Given the description of an element on the screen output the (x, y) to click on. 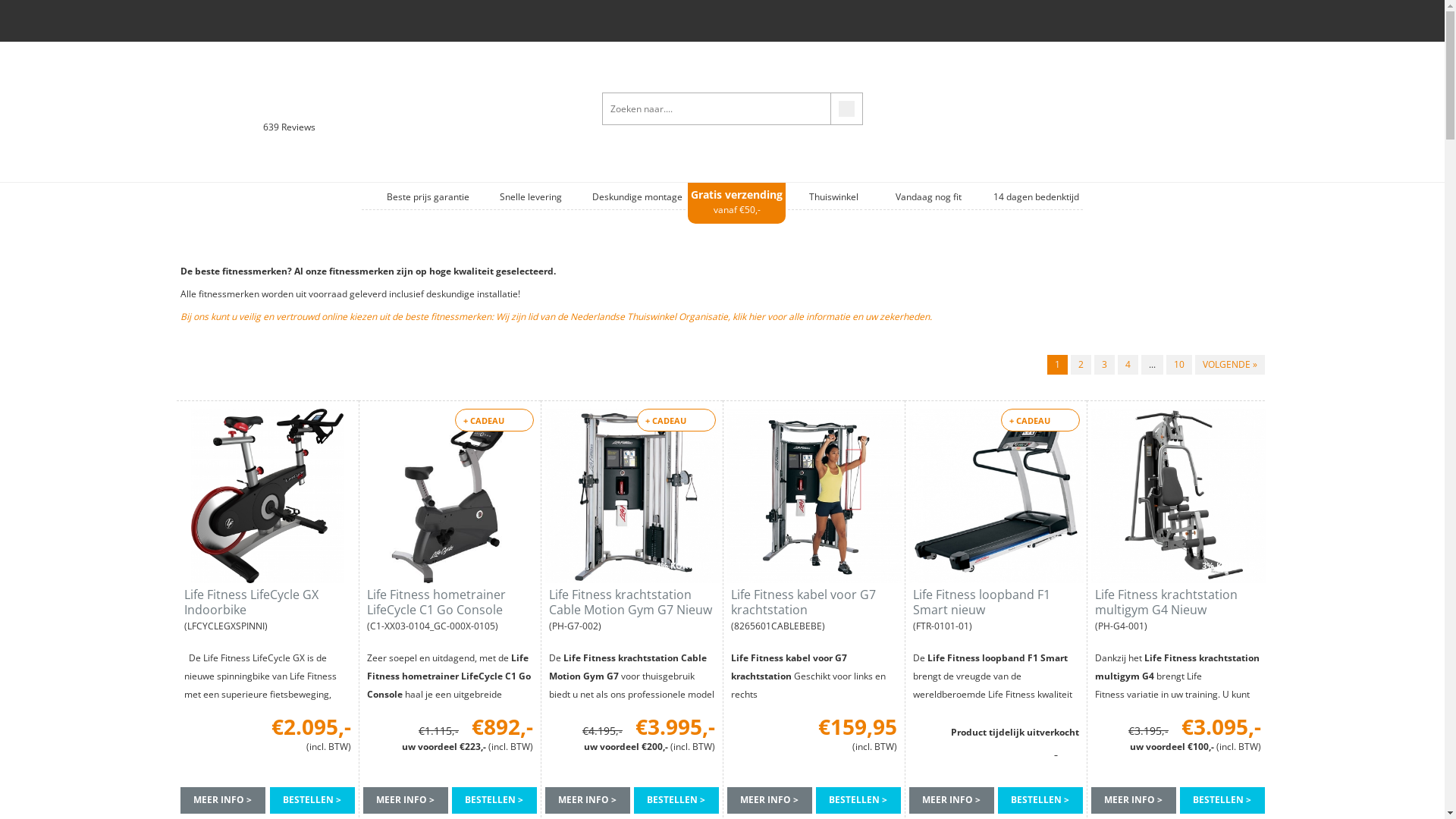
  Element type: text (230, 365)
Life Fitness krachtstation Cable Motion Gym G7 Nieuw Element type: text (632, 601)
BESTELLEN > Element type: text (857, 800)
MEER INFO > Element type: text (950, 800)
1 Element type: text (1056, 364)
Life Fitness LifeCycle GX Indoorbike Element type: text (266, 601)
8.9/10 Element type: hover (215, 126)
BESTELLEN > Element type: text (311, 800)
+ CADEAU
UITVERKOOP Element type: text (449, 495)
2 Element type: text (1080, 364)
+ CADEAU
UITVERKOOP Element type: text (995, 495)
MEER INFO > Element type: text (1132, 800)
10 Element type: text (1179, 364)
MEER INFO > Element type: text (768, 800)
  Element type: text (264, 365)
Life Fitness loopband F1 Smart nieuw Element type: text (996, 601)
BESTELLEN > Element type: text (675, 800)
Life Fitness kabel voor G7 krachtstation Element type: text (814, 601)
MEER INFO > Element type: text (404, 800)
BESTELLEN > Element type: text (1039, 800)
Life Fitness hometrainer LifeCycle C1 Go Console Element type: text (450, 601)
3 Element type: text (1103, 364)
BESTELLEN > Element type: text (1221, 800)
MEER INFO > Element type: text (586, 800)
MEER INFO > Element type: text (222, 800)
Life Fitness krachtstation multigym G4 Nieuw Element type: text (1178, 601)
Vandaag nog Fit!
+ CADEAU
4% KORTING Element type: text (631, 495)
BESTELLEN > Element type: text (493, 800)
  Element type: text (199, 365)
4 Element type: text (1127, 364)
3% KORTING Element type: text (1177, 495)
